Given the description of an element on the screen output the (x, y) to click on. 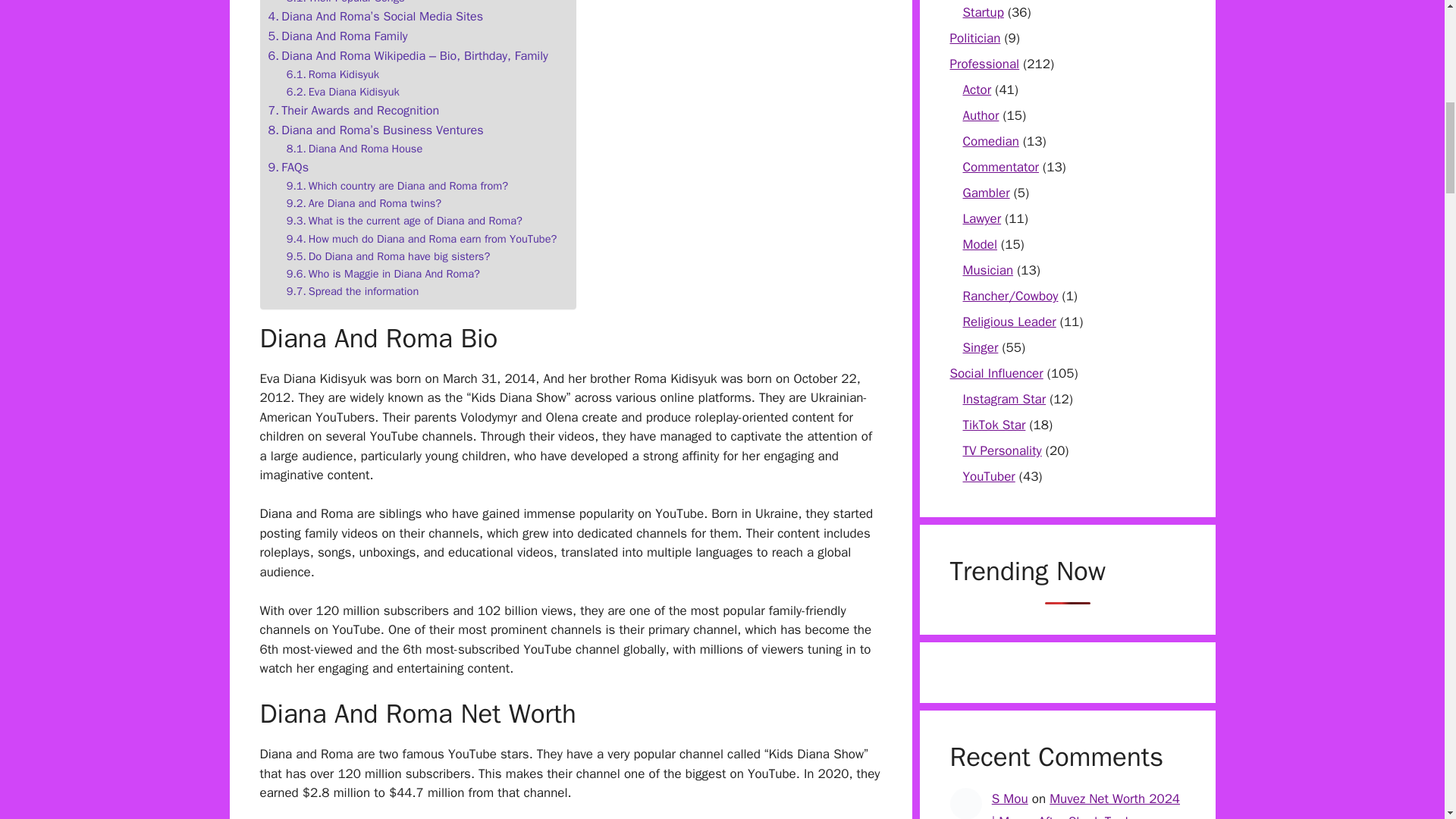
Their Popular Songs (345, 3)
Roma Kidisyuk (332, 74)
Diana And Roma Family (337, 35)
